Given the description of an element on the screen output the (x, y) to click on. 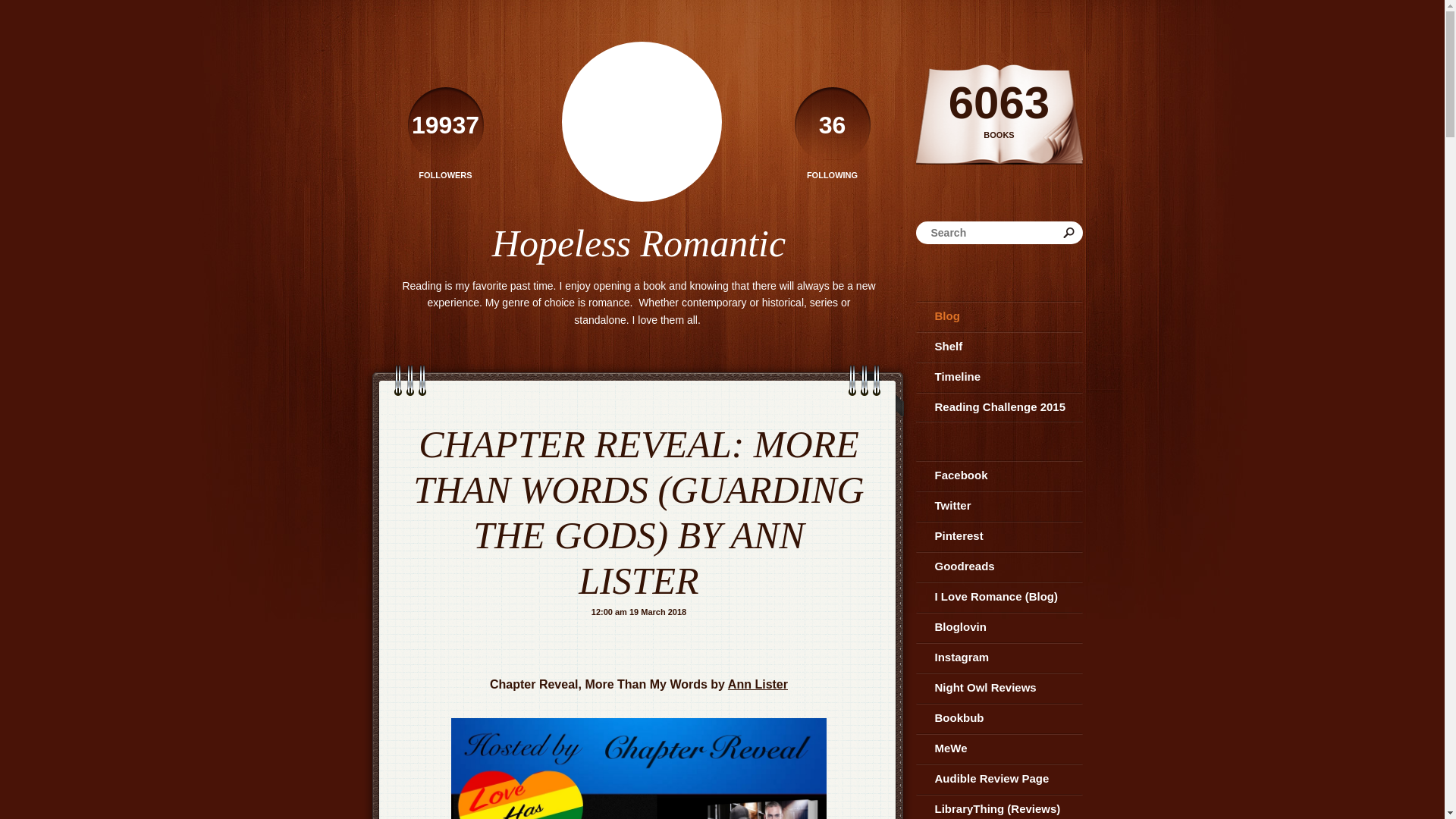
12:00 am 19 March 2018 (638, 611)
BOOKS (999, 135)
Hopeless Romantic (639, 242)
Timeline (445, 133)
Ann Lister (999, 376)
Goodreads (757, 684)
Shelf (999, 566)
6063 (832, 133)
Twitter (999, 346)
Blog (999, 97)
Facebook (999, 505)
Pinterest (999, 316)
Reading Challenge 2015 (999, 475)
